Given the description of an element on the screen output the (x, y) to click on. 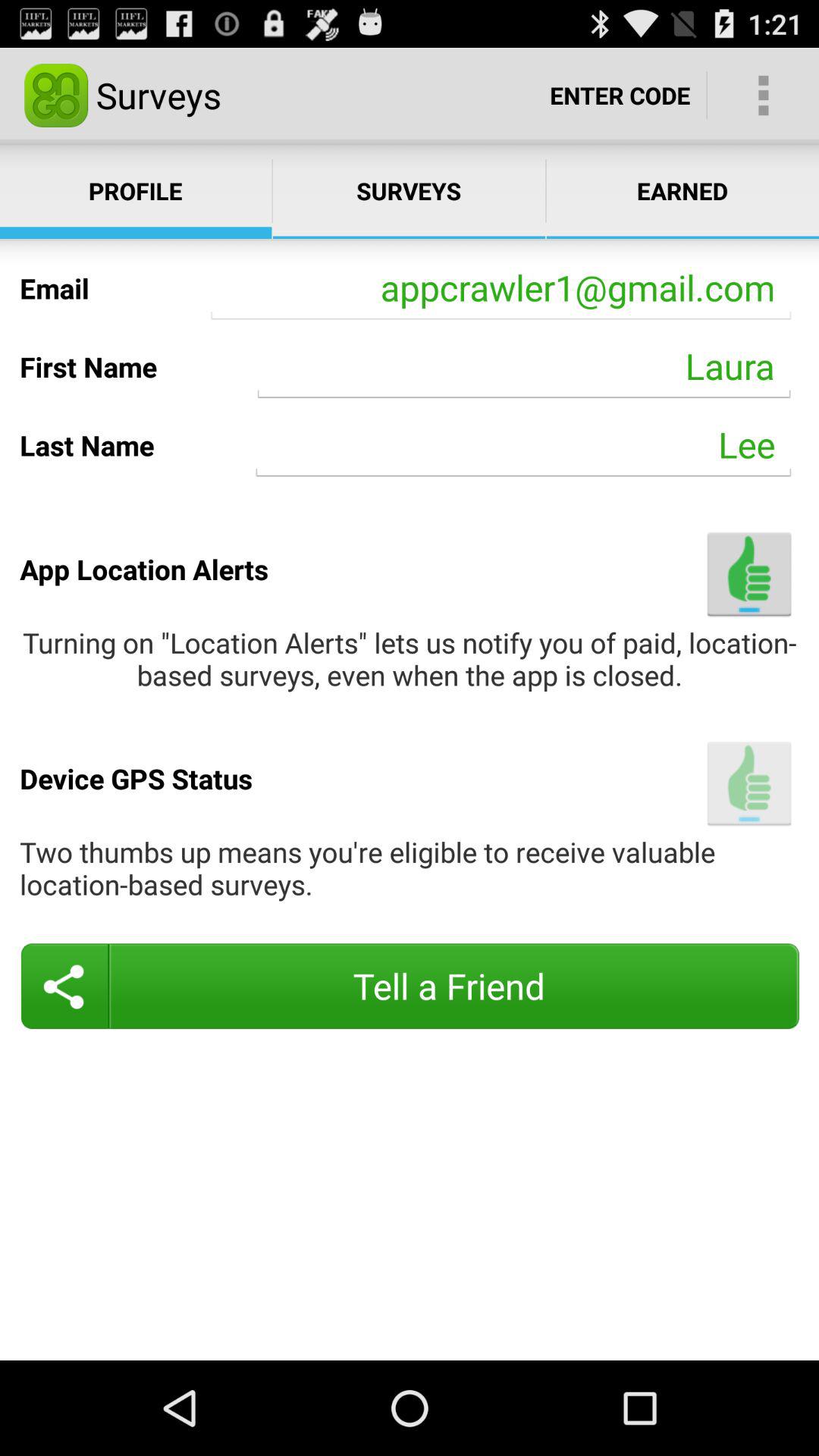
tap laura icon (523, 366)
